Given the description of an element on the screen output the (x, y) to click on. 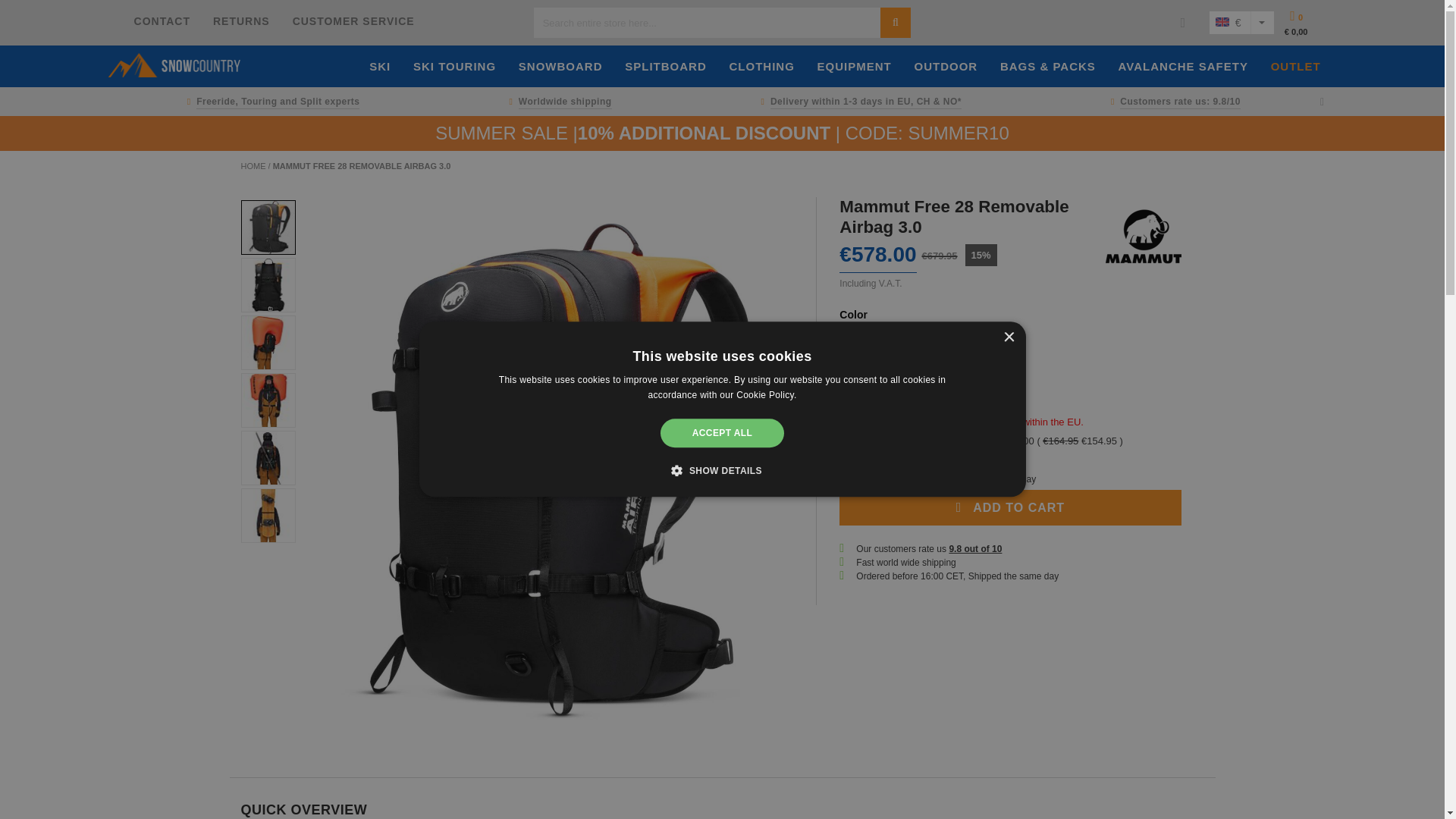
RETURNS (240, 21)
on (844, 440)
Add to Cart (1010, 507)
SEARCH (895, 22)
Search (895, 22)
Worldwide shipping (557, 101)
Go to Home Page (254, 165)
Customers rate (1172, 101)
Delivery times (857, 101)
CUSTOMER SERVICE (353, 21)
CONTACT (161, 21)
